Given the description of an element on the screen output the (x, y) to click on. 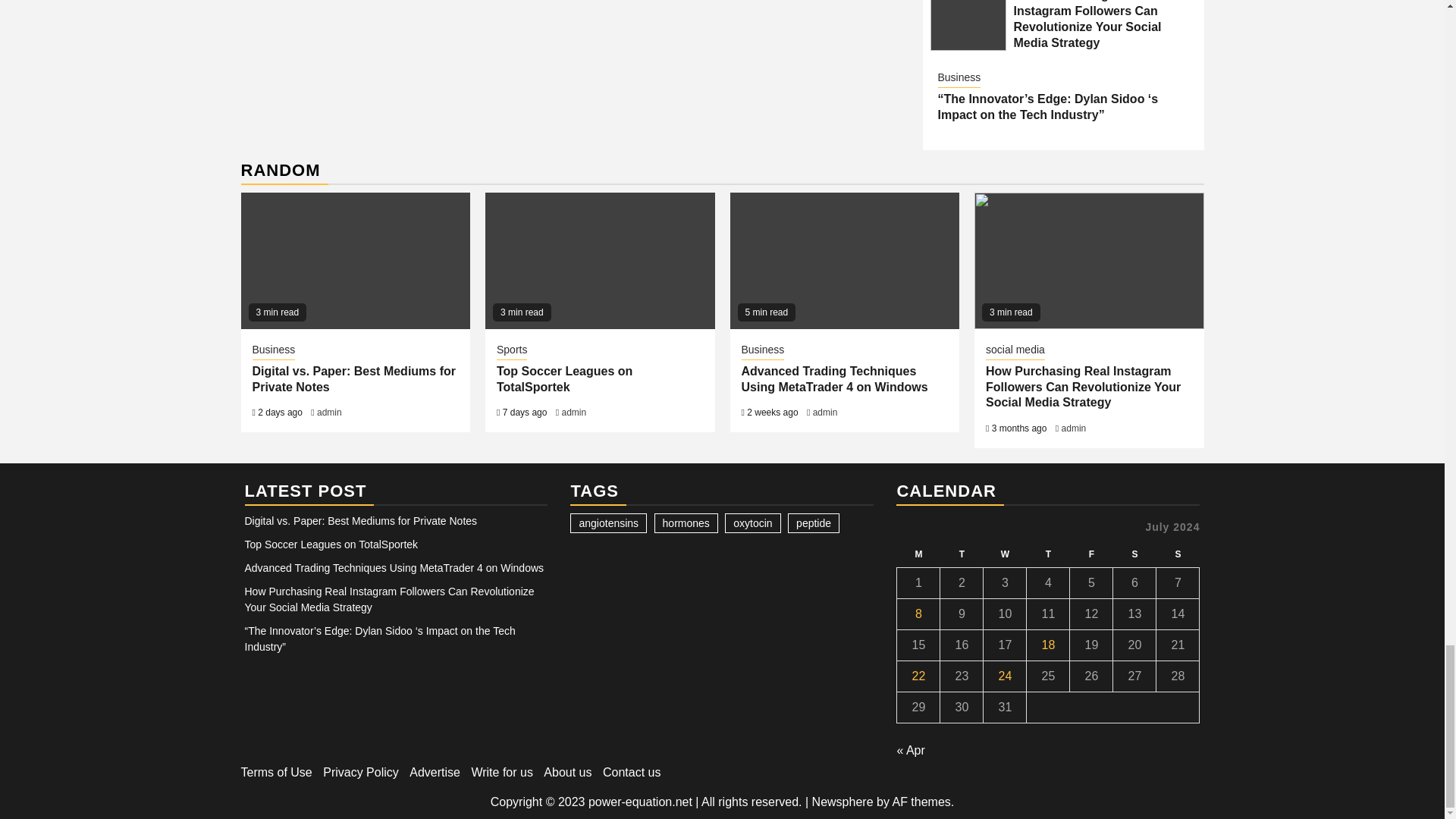
Saturday (1134, 554)
Monday (918, 554)
Thursday (1048, 554)
Friday (1091, 554)
Wednesday (1005, 554)
Sunday (1177, 554)
Tuesday (962, 554)
